Given the description of an element on the screen output the (x, y) to click on. 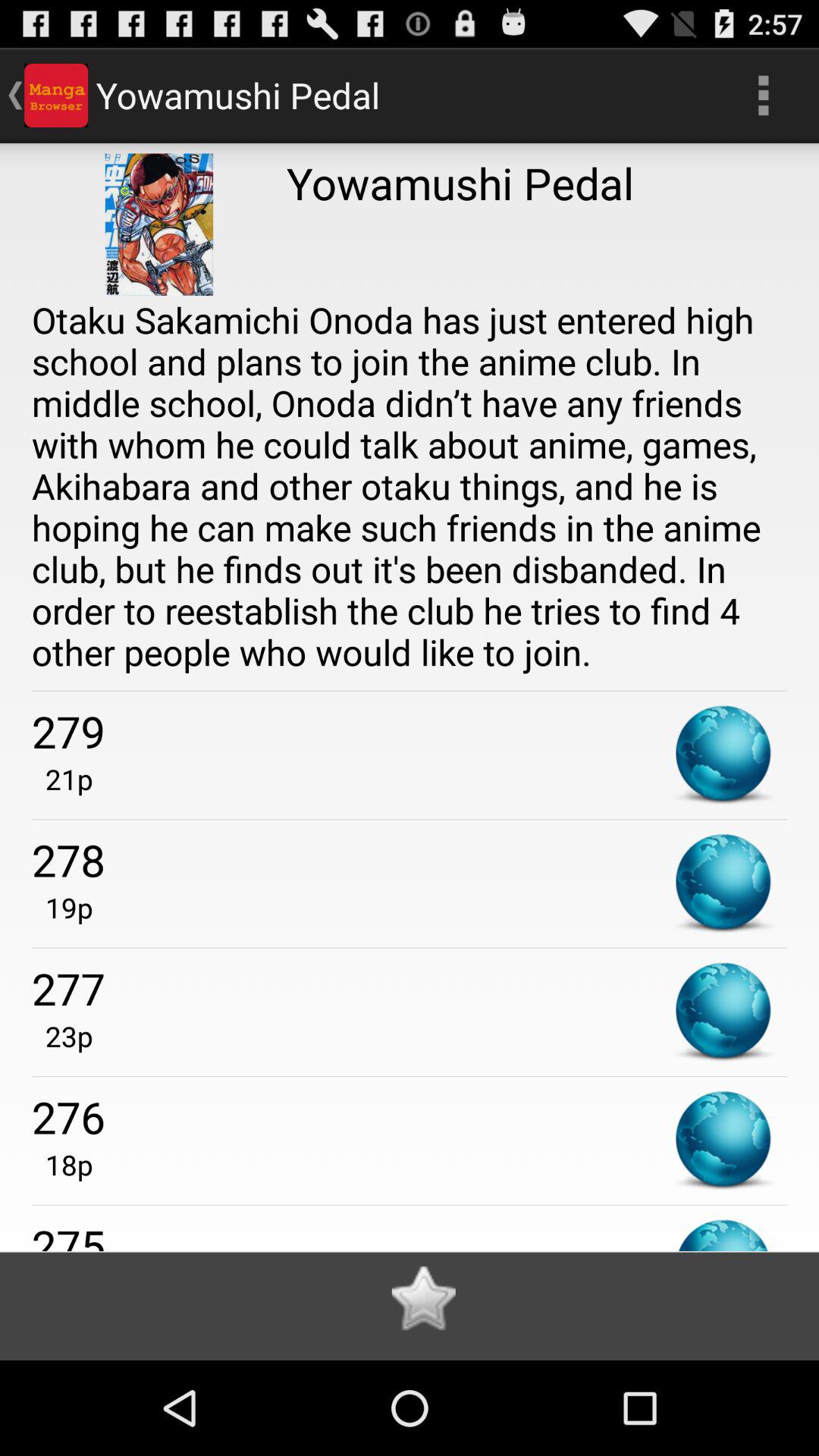
open app above the   19p (409, 859)
